Given the description of an element on the screen output the (x, y) to click on. 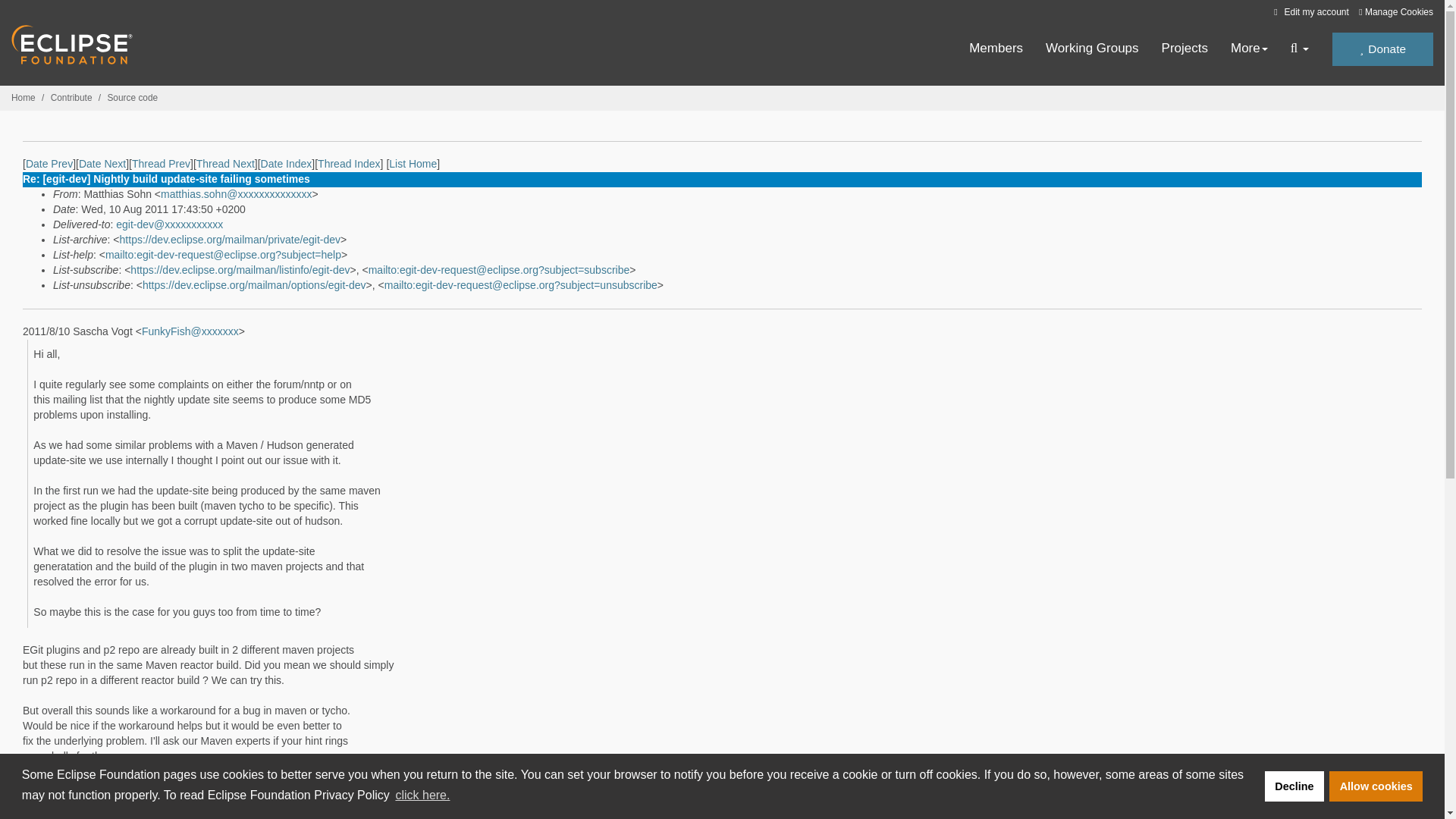
click here. (422, 794)
Edit my account (1309, 11)
More (1249, 48)
Projects (1184, 48)
Working Groups (1091, 48)
Members (996, 48)
Decline (1294, 786)
Donate (1382, 49)
Allow cookies (1375, 786)
Manage Cookies (1395, 12)
